Given the description of an element on the screen output the (x, y) to click on. 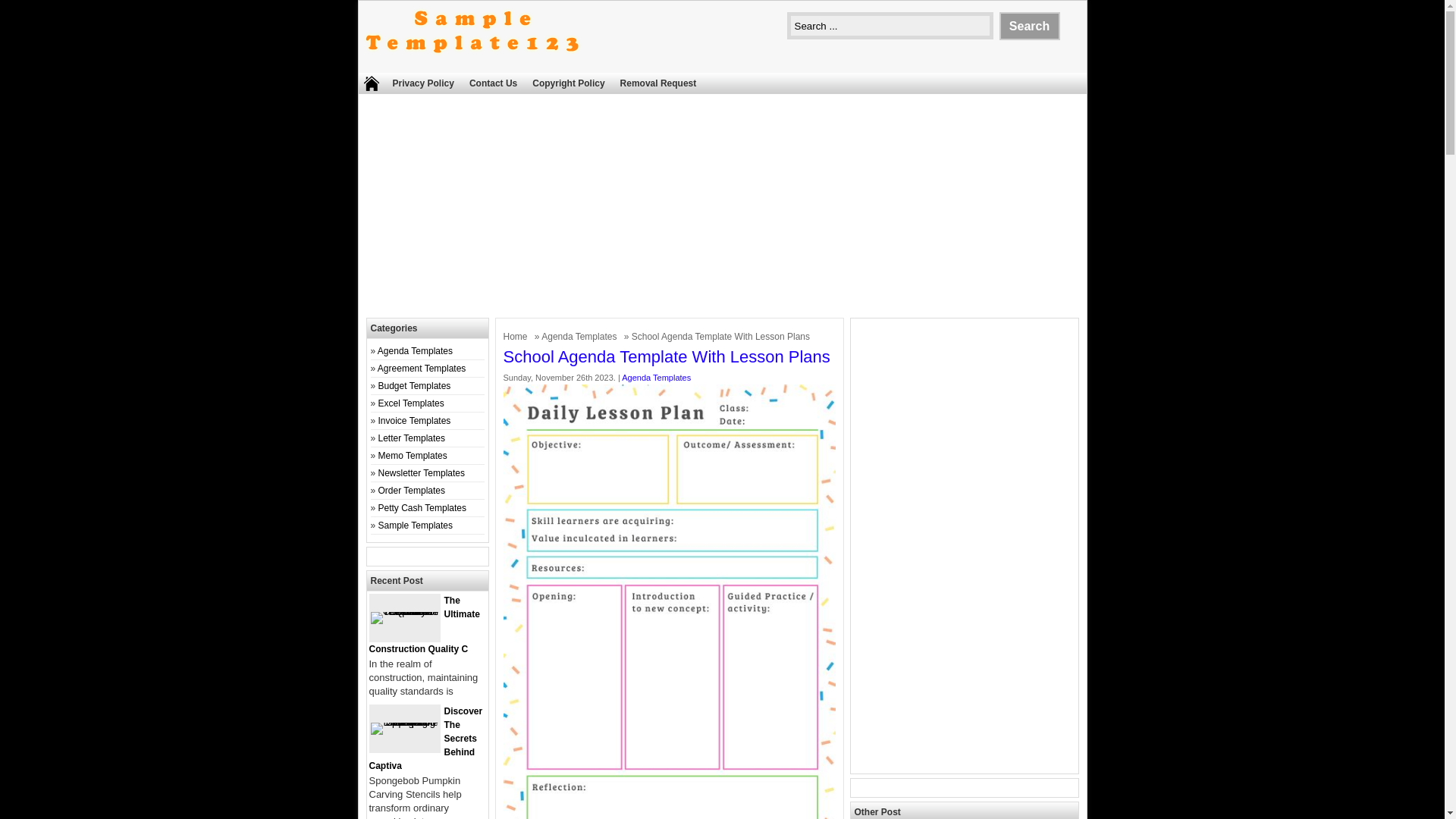
Budget Templates (414, 385)
Invoice Templates (414, 420)
Sample Templates (415, 525)
Home (517, 336)
Newsletter Templates (421, 472)
Letter Templates (411, 438)
Order Templates (411, 490)
Agreement Templates (421, 368)
Petty Cash Templates (422, 507)
Search (1028, 26)
Search ...  (889, 25)
Agenda Templates (580, 336)
Search (1028, 26)
Agenda Templates (580, 336)
Memo Templates (412, 455)
